Given the description of an element on the screen output the (x, y) to click on. 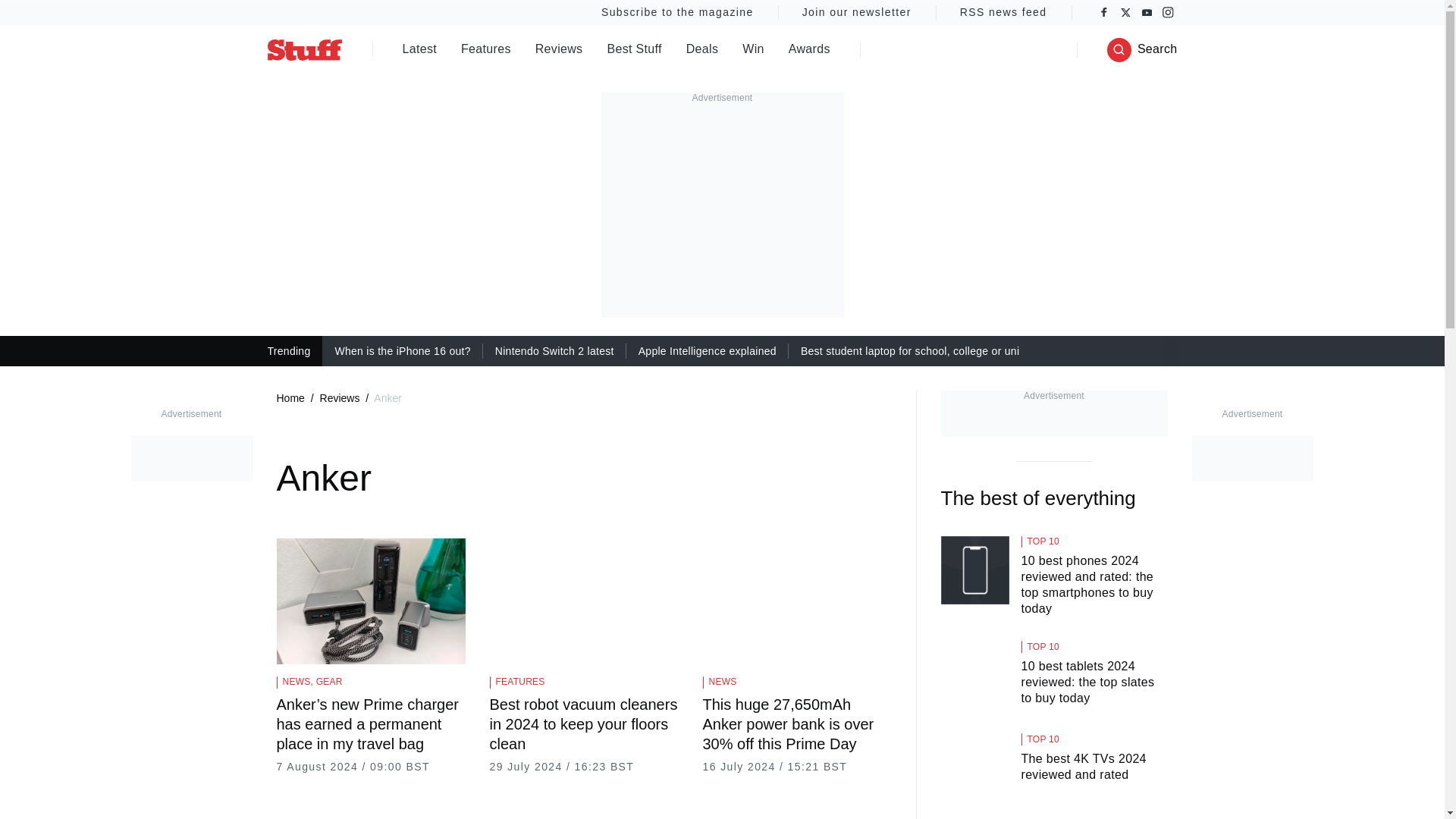
Stuff (303, 49)
Nintendo Switch 2 latest (554, 351)
Reviews (559, 50)
Search (1141, 49)
Awards (809, 50)
Facebook (1103, 12)
RSS news feed (1003, 11)
Instagram (1167, 12)
Home (290, 398)
Best student laptop for school, college or uni (909, 351)
